Given the description of an element on the screen output the (x, y) to click on. 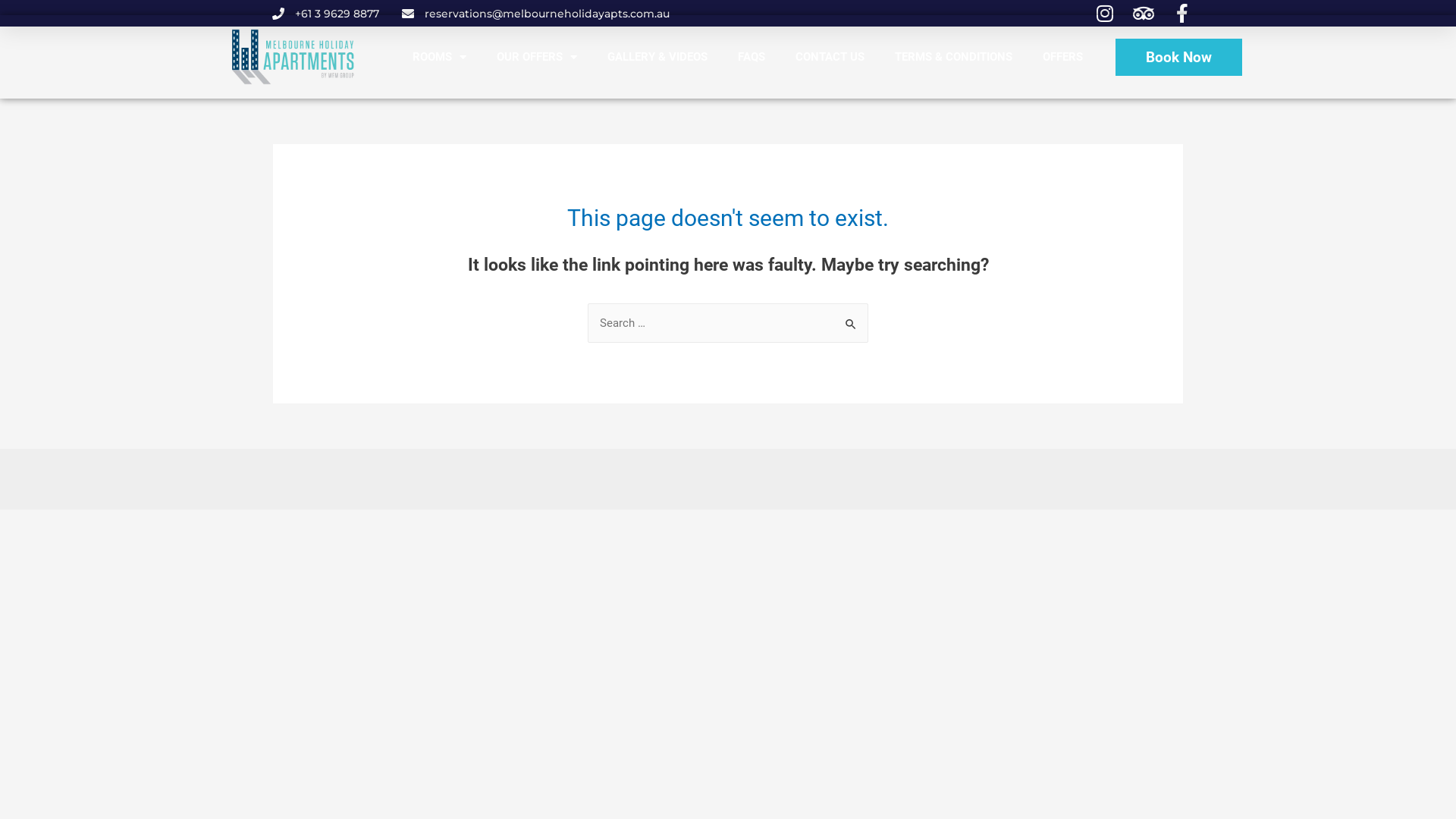
Search Element type: text (851, 318)
Book Now Element type: text (1178, 56)
OUR OFFERS Element type: text (536, 56)
TERMS & CONDITIONS Element type: text (953, 56)
FAQS Element type: text (751, 56)
GALLERY & VIDEOS Element type: text (657, 56)
CONTACT US Element type: text (829, 56)
ROOMS Element type: text (439, 56)
OFFERS Element type: text (1062, 56)
